Given the description of an element on the screen output the (x, y) to click on. 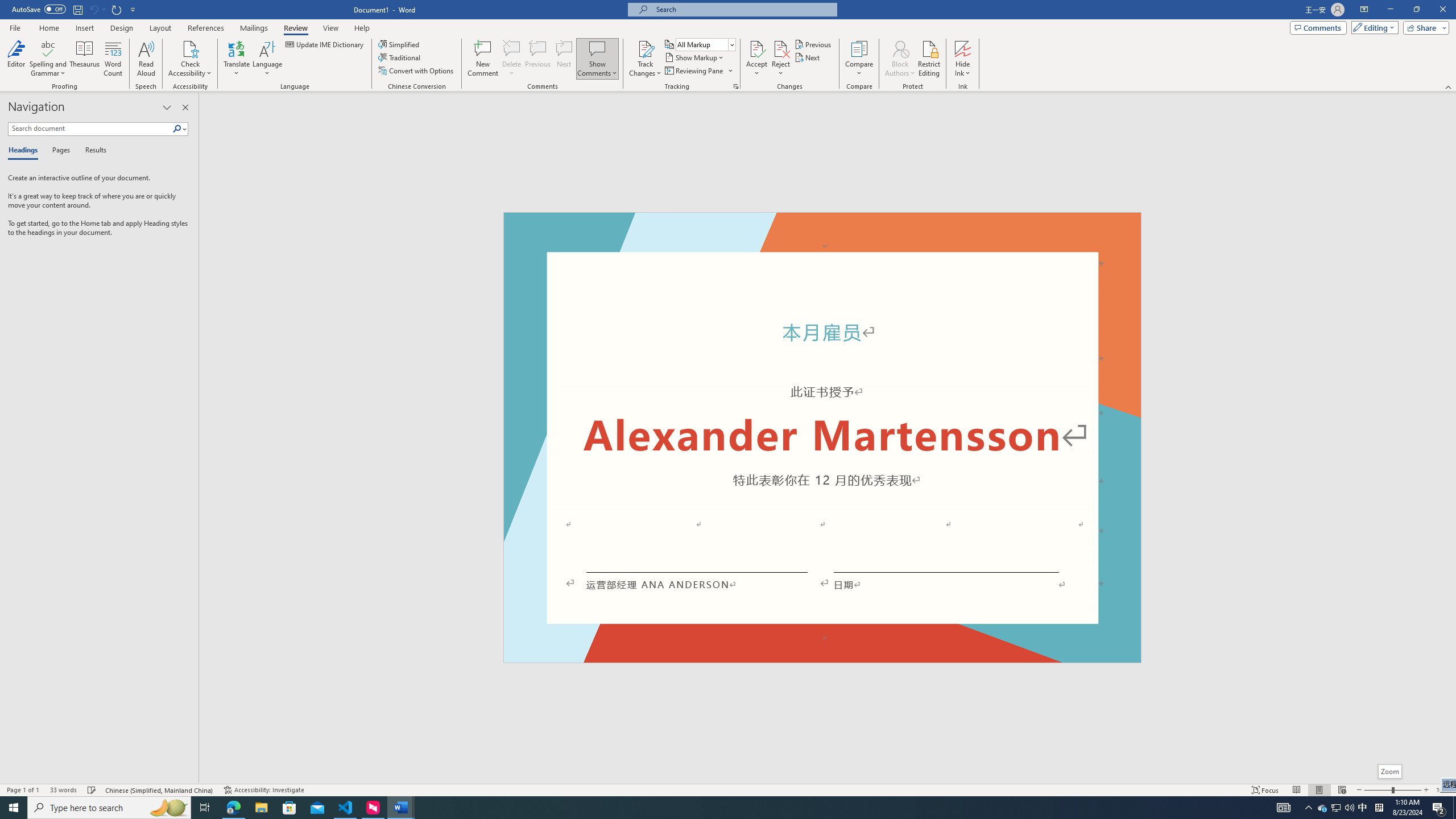
Reject and Move to Next (780, 48)
Next (808, 56)
Block Authors (900, 48)
New Comment (482, 58)
Block Authors (900, 58)
Hide Ink (962, 58)
